Given the description of an element on the screen output the (x, y) to click on. 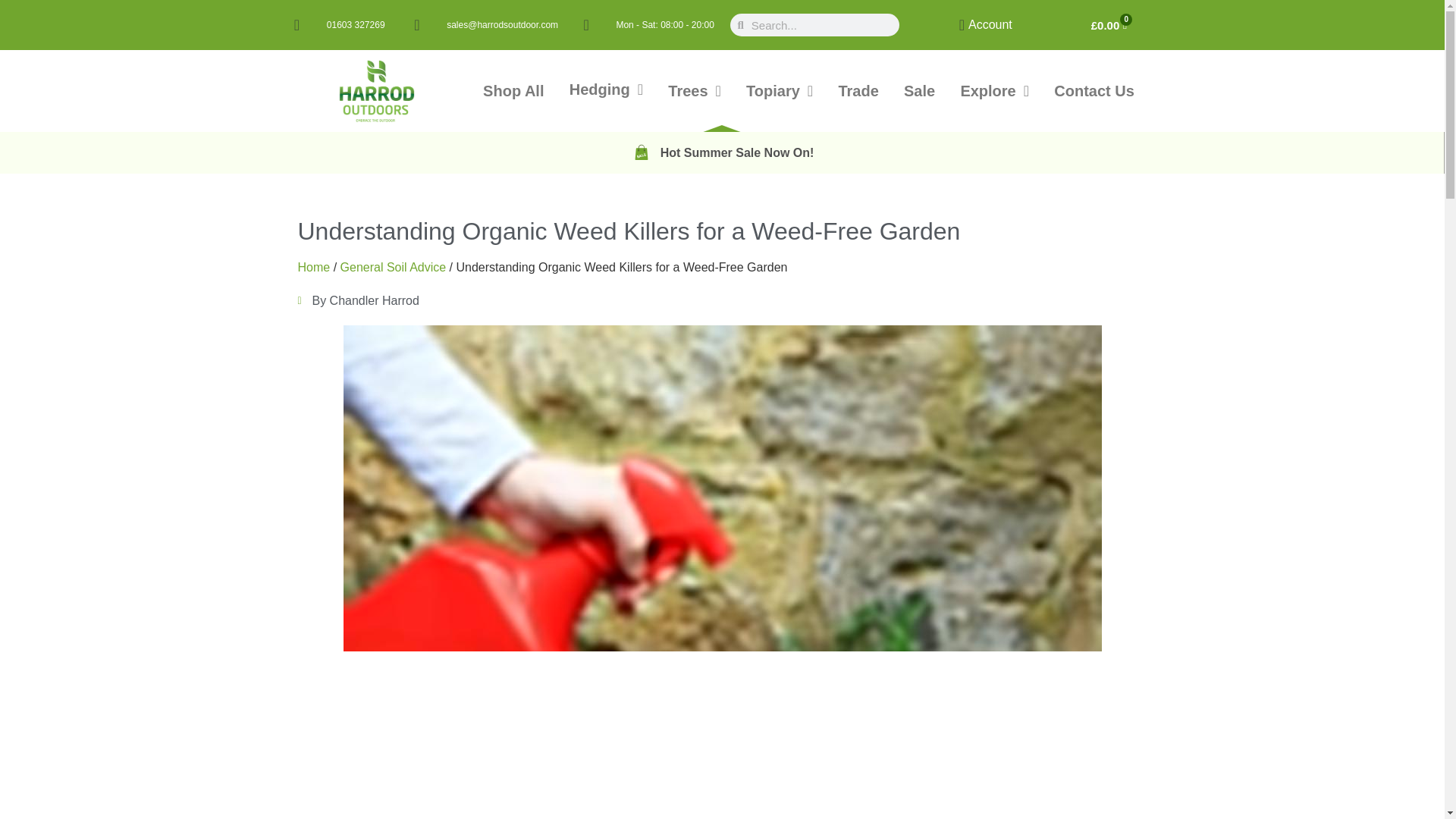
Hedging (606, 89)
Account (978, 24)
01603 327269 (338, 24)
Shop All (513, 90)
